Given the description of an element on the screen output the (x, y) to click on. 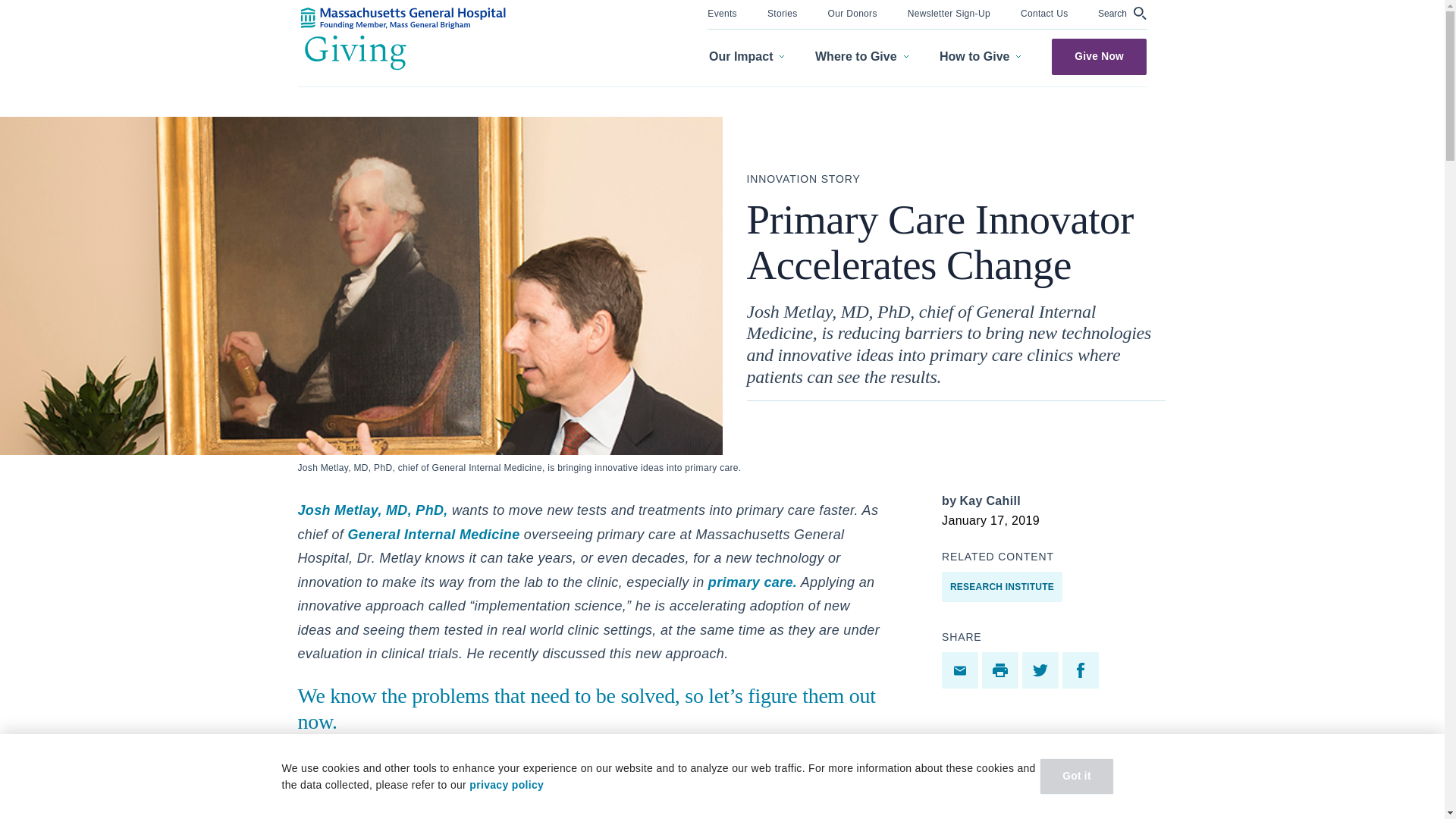
RESEARCH INSTITUTE (1002, 586)
Give Now (1099, 56)
Search (1122, 12)
Stories (782, 11)
primary care. (750, 581)
Events (721, 11)
General Internal Medicine (433, 533)
Contact Us (1044, 11)
Newsletter Sign-Up (948, 11)
Our Impact (746, 56)
How to Give (980, 56)
Where to Give (861, 56)
Our Donors (852, 11)
Josh Metlay, MD, PhD, (371, 509)
